Given the description of an element on the screen output the (x, y) to click on. 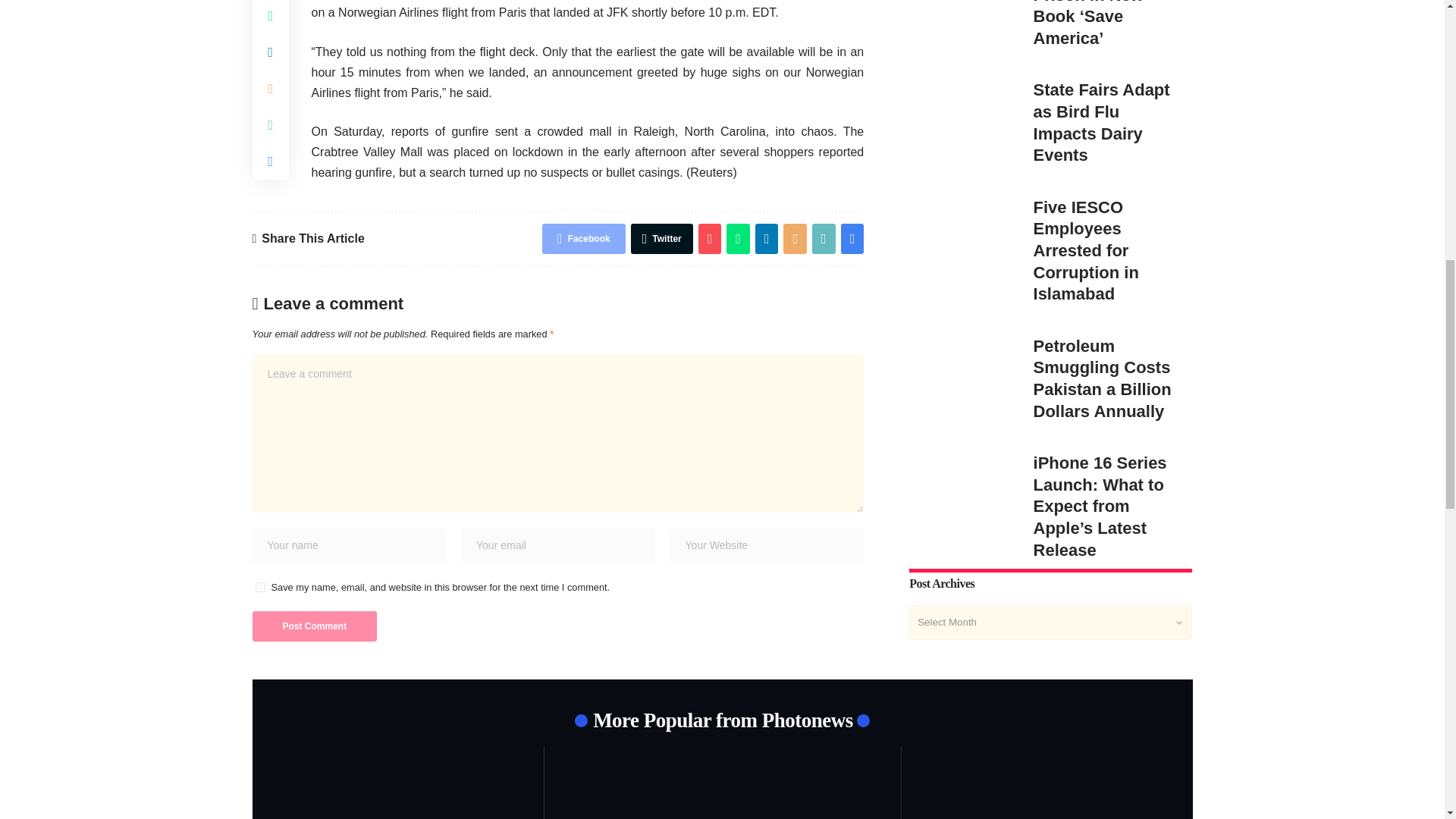
yes (259, 587)
State Fairs Adapt as Bird Flu Impacts Dairy Events (963, 75)
Five IESCO Employees Arrested for Corruption in Islamabad (963, 202)
Post Comment (314, 625)
